Given the description of an element on the screen output the (x, y) to click on. 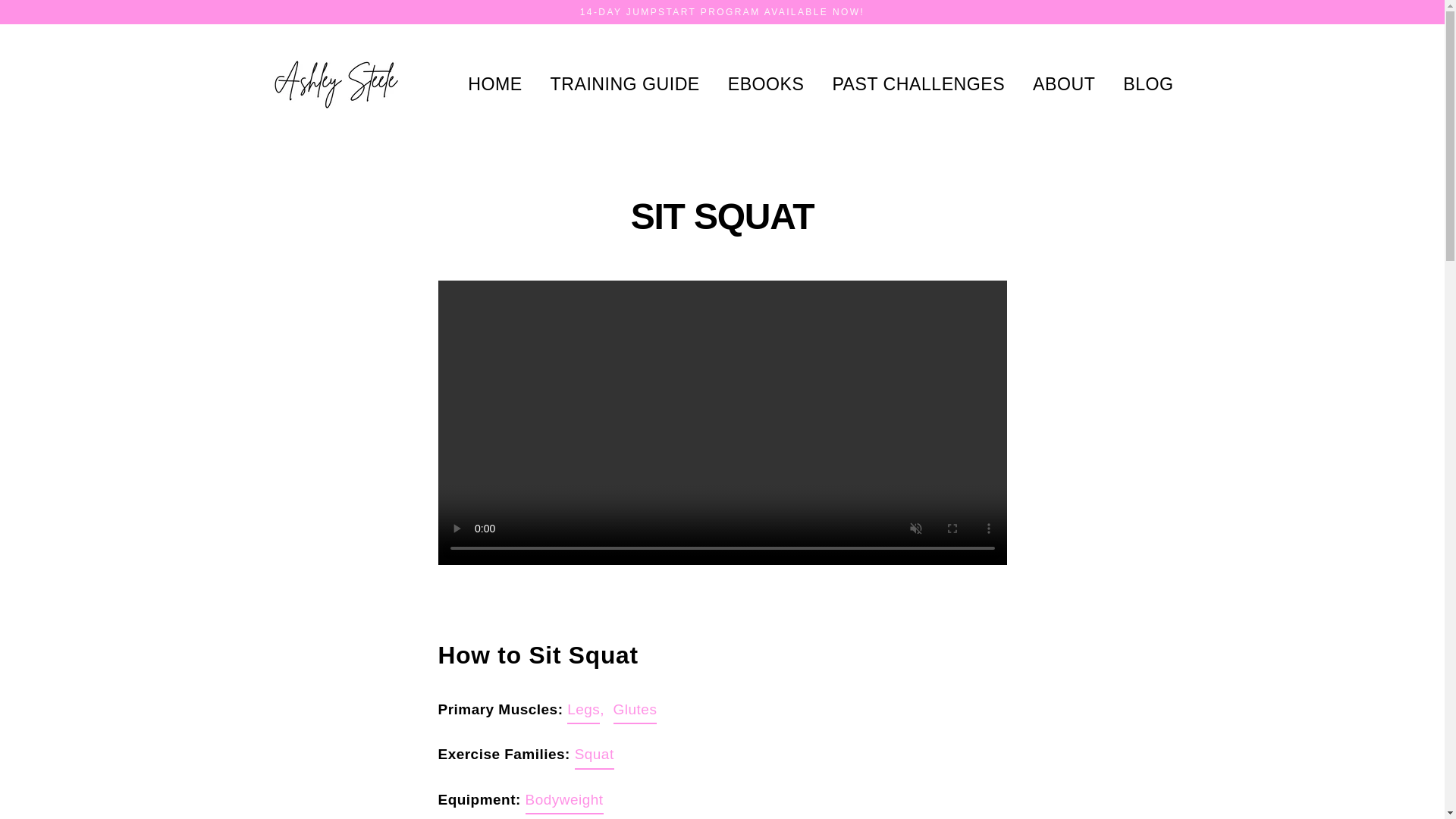
Glutes (635, 710)
Legs (583, 710)
Bodyweight (564, 801)
Squat (594, 755)
